Given the description of an element on the screen output the (x, y) to click on. 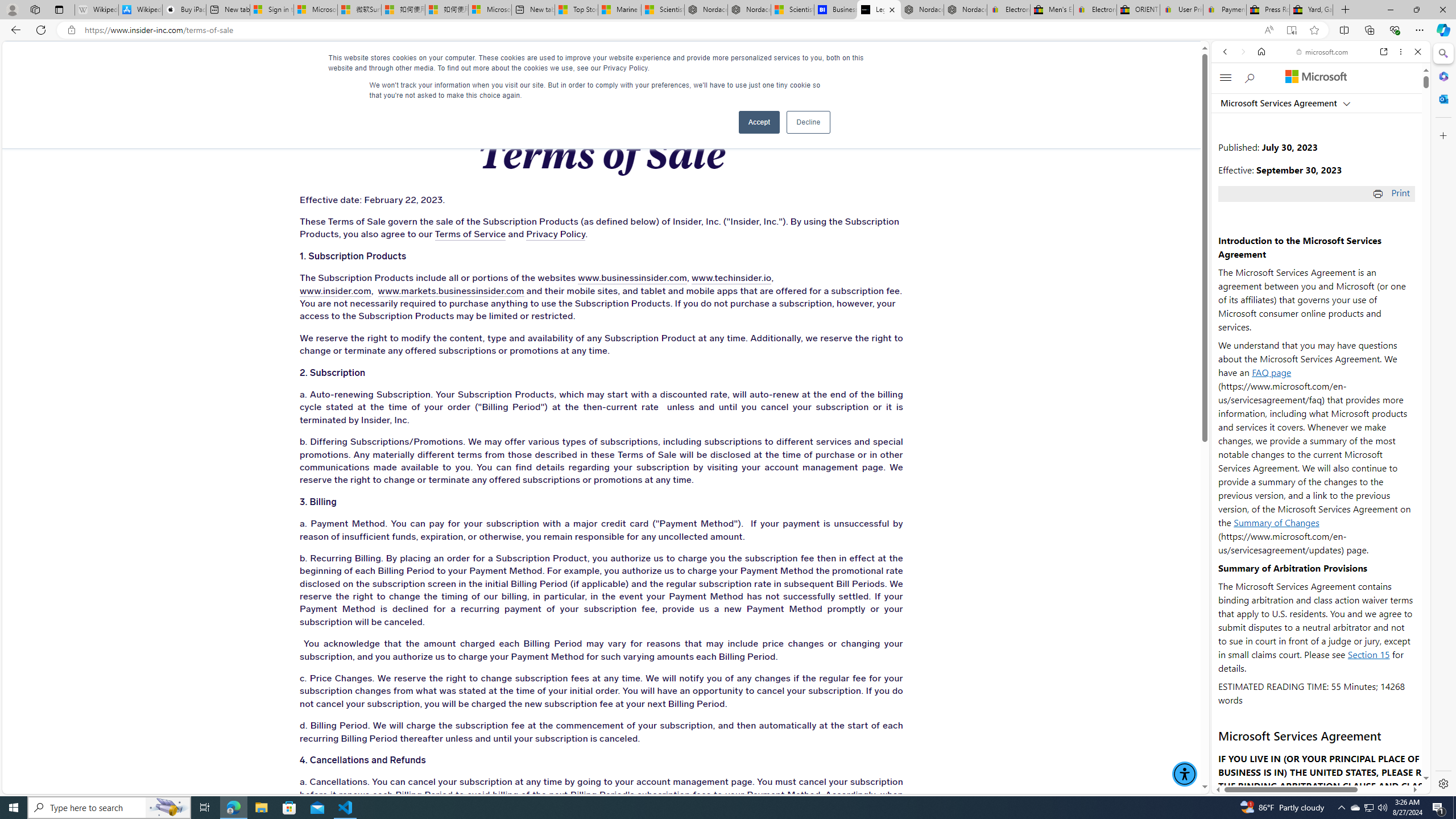
Insider Inc. (602, 63)
Privacy Policy (555, 234)
NEWS (730, 62)
Press Room - eBay Inc. (1267, 9)
Buy iPad - Apple (184, 9)
Accessibility Menu (1184, 773)
